Given the description of an element on the screen output the (x, y) to click on. 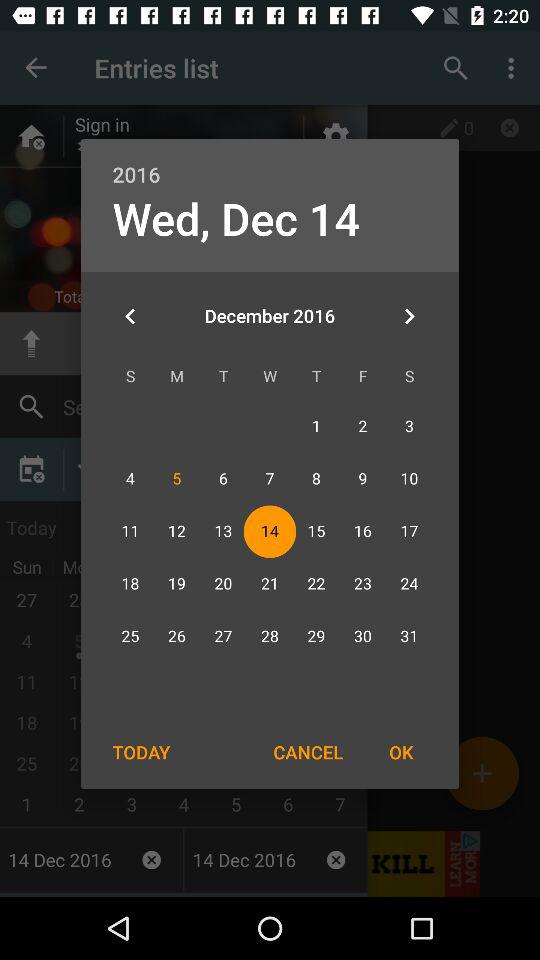
press the ok at the bottom right corner (401, 751)
